Given the description of an element on the screen output the (x, y) to click on. 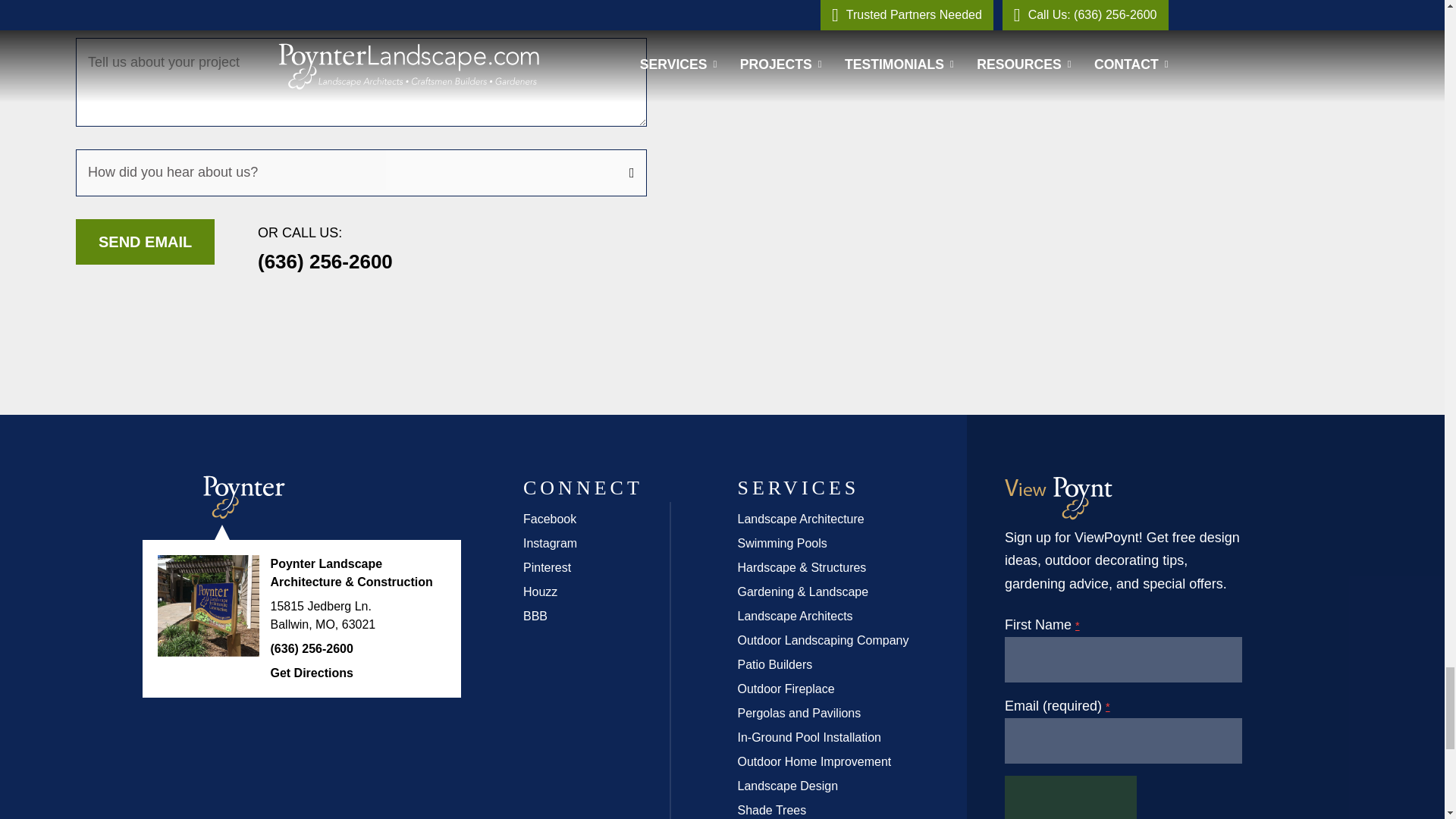
Sign up (1070, 797)
Send Email (144, 241)
